Given the description of an element on the screen output the (x, y) to click on. 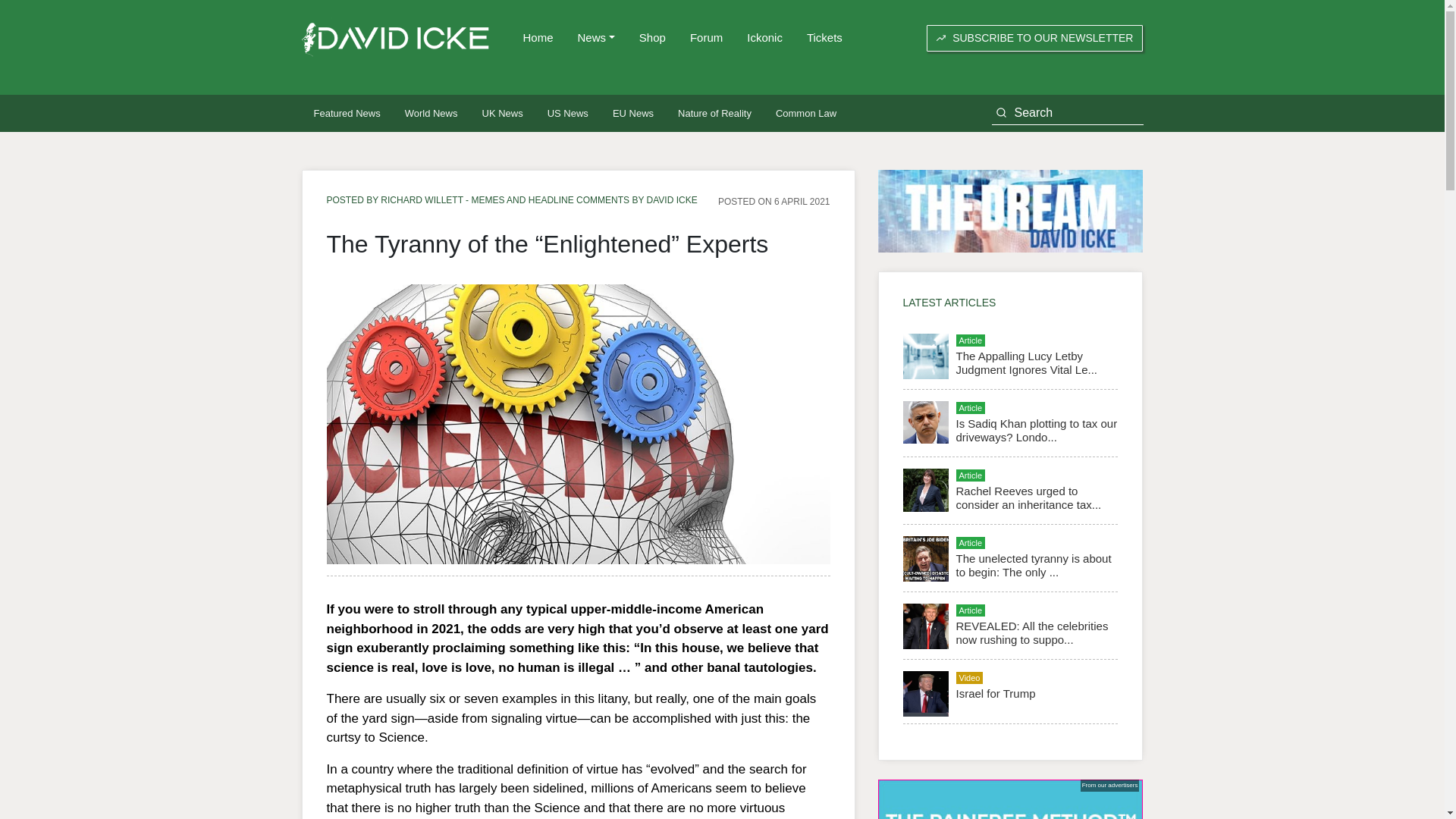
Featured News (347, 113)
UK News (502, 113)
Forum (706, 37)
Shop (652, 37)
EU News (632, 113)
Home (538, 37)
US News (567, 113)
Ickonic (764, 37)
Israel for Trump (995, 693)
Tickets (824, 37)
SUBSCRIBE TO OUR NEWSLETTER (1034, 38)
World News (431, 113)
Common Law (805, 113)
